Given the description of an element on the screen output the (x, y) to click on. 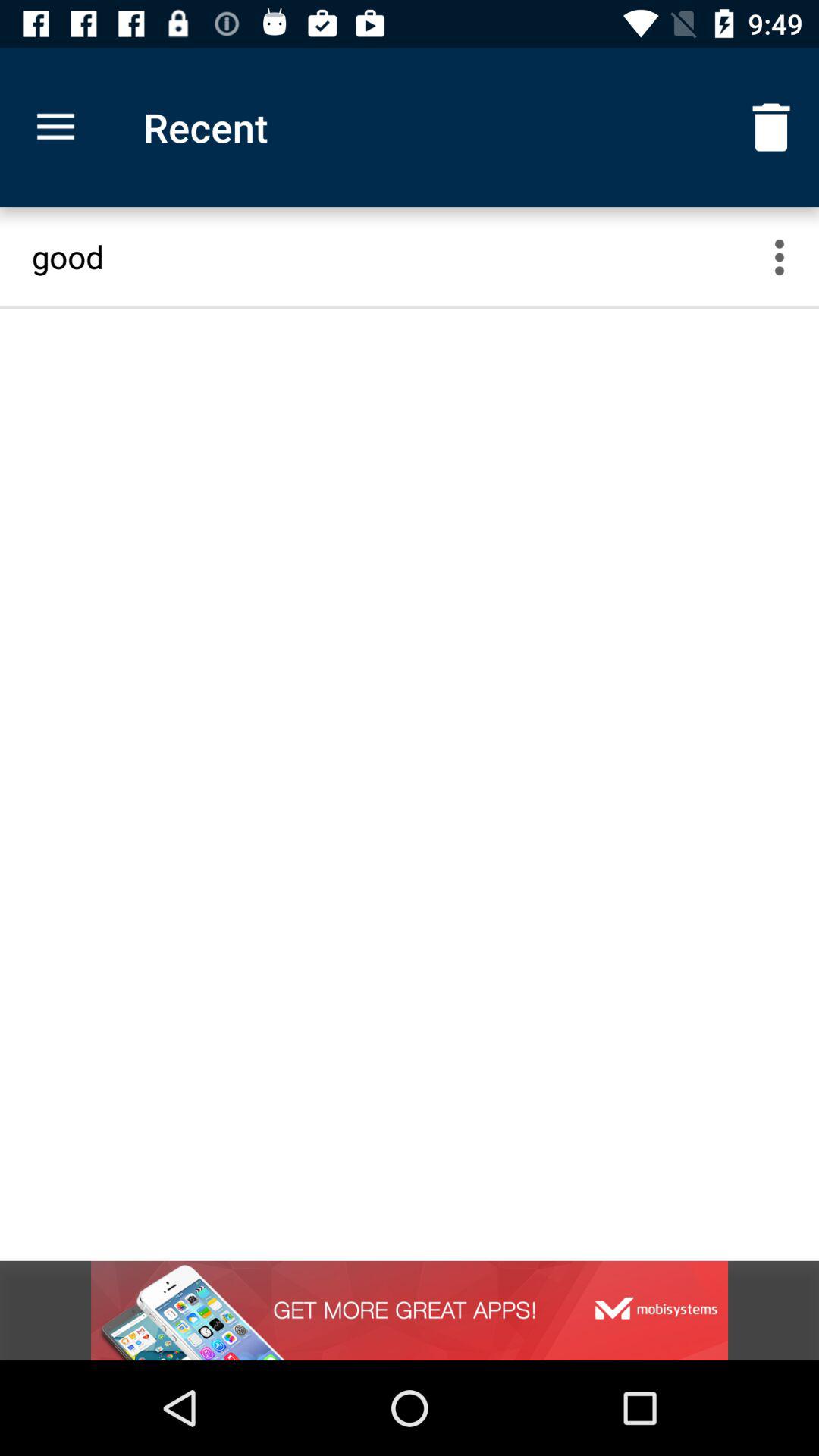
press the icon to the right of the good item (789, 256)
